Given the description of an element on the screen output the (x, y) to click on. 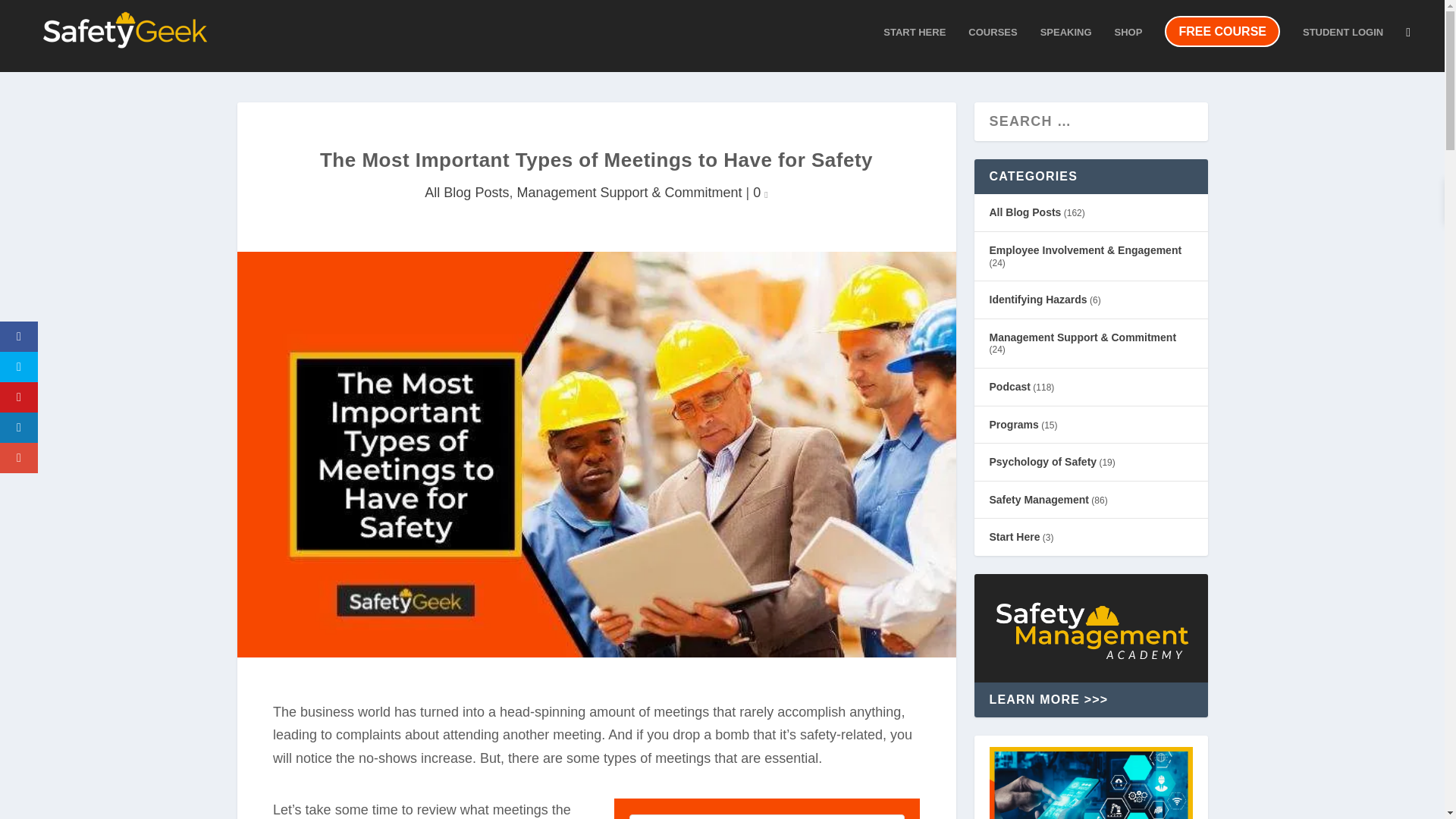
Search (37, 15)
SPEAKING (1066, 45)
FREE COURSE (1221, 49)
0 (759, 192)
All Blog Posts (466, 192)
START HERE (913, 45)
STUDENT LOGIN (1343, 45)
COURSES (992, 45)
